Given the description of an element on the screen output the (x, y) to click on. 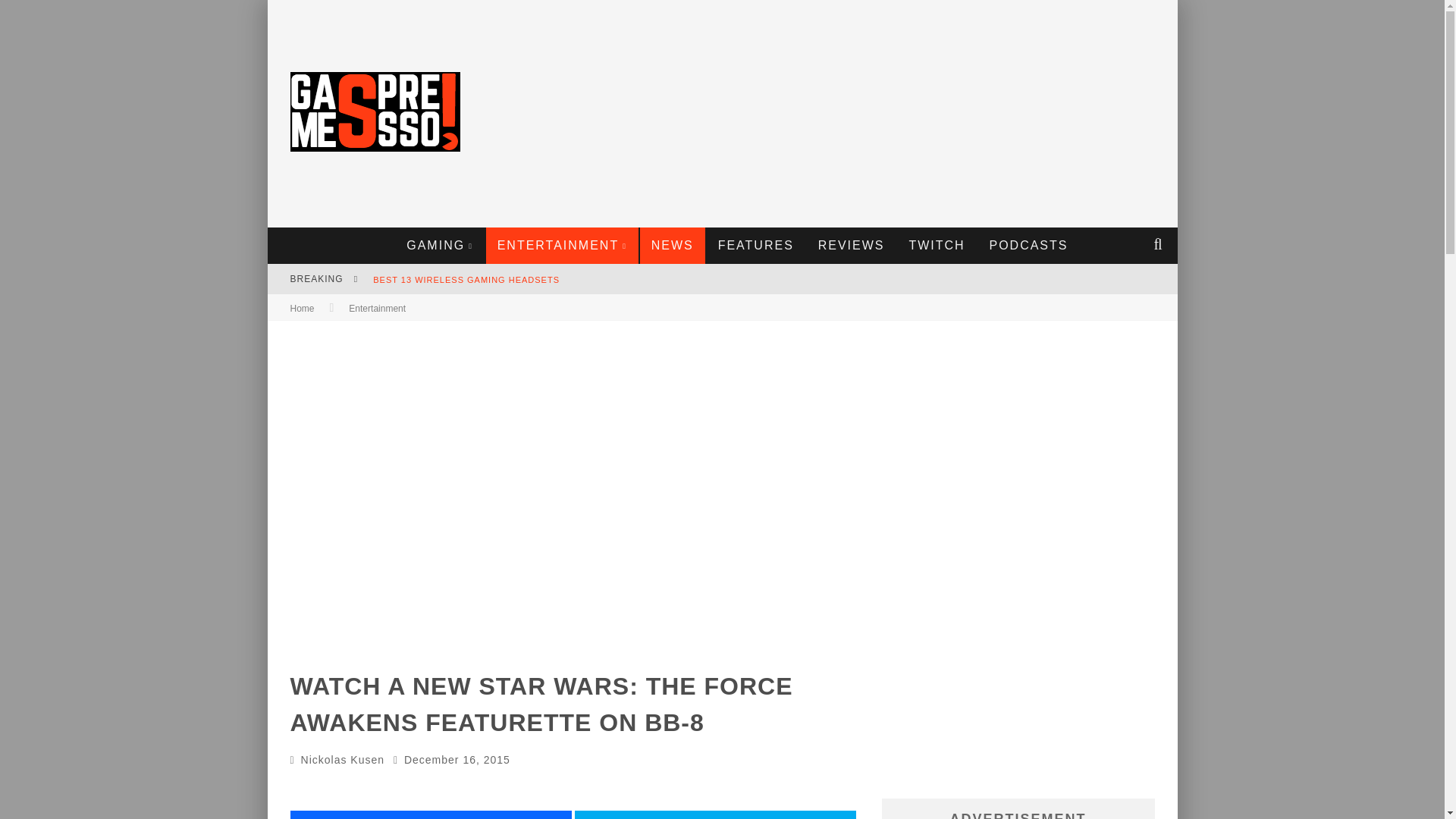
Share on Facebook (429, 814)
Advertisement (893, 113)
View all posts in Entertainment (377, 308)
GAMING (439, 245)
Share on Twitter (715, 814)
ENTERTAINMENT (562, 245)
Best 13 Wireless Gaming Headsets (465, 279)
